Given the description of an element on the screen output the (x, y) to click on. 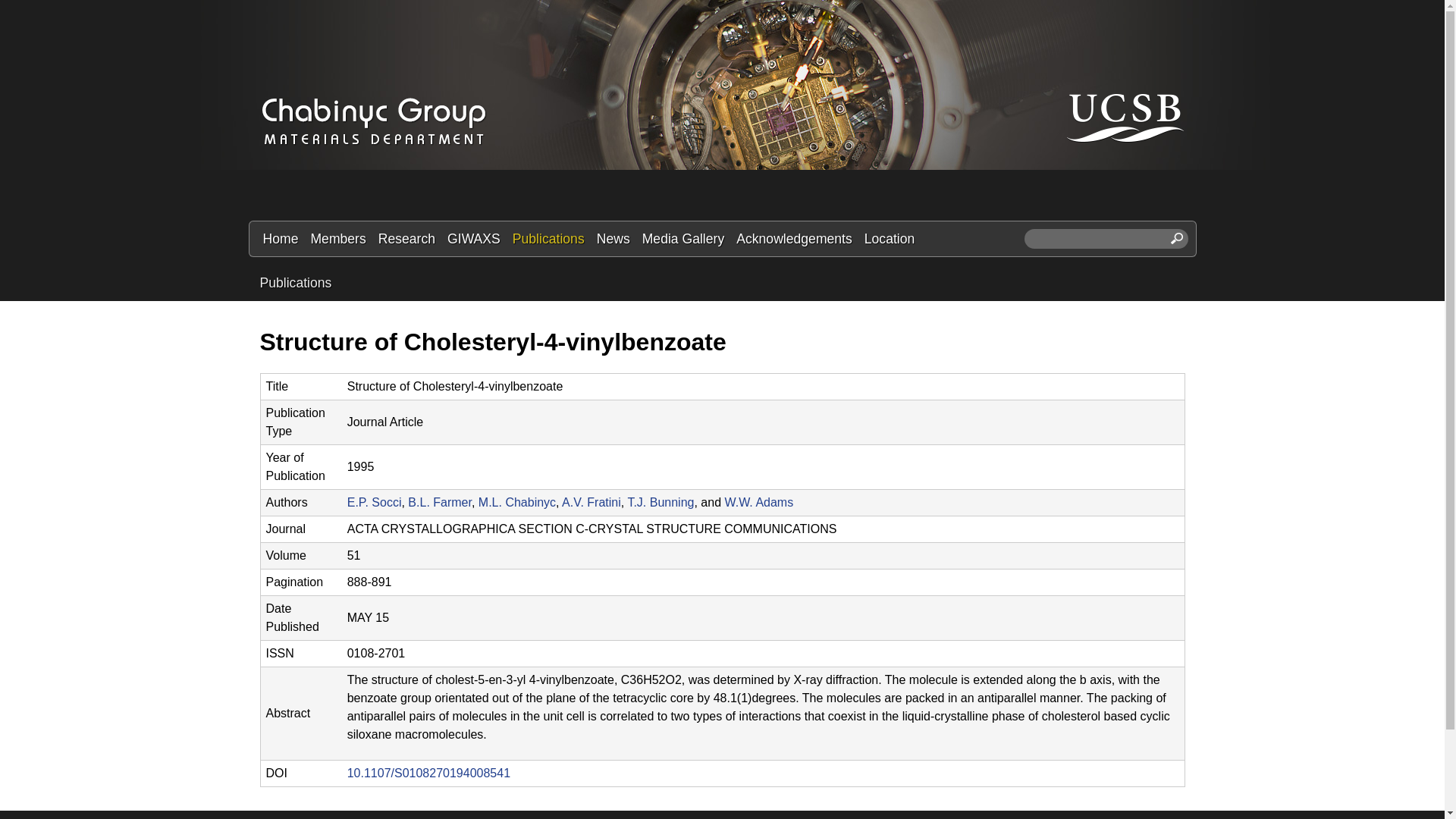
A.V. Fratini (591, 502)
GIWAXS (473, 238)
News (613, 238)
Enter the terms you wish to search for. (1105, 238)
M.L. Chabinyc (517, 502)
Publications (548, 238)
E.P. Socci (374, 502)
Media Gallery (683, 238)
Home (280, 238)
Members (337, 238)
